Given the description of an element on the screen output the (x, y) to click on. 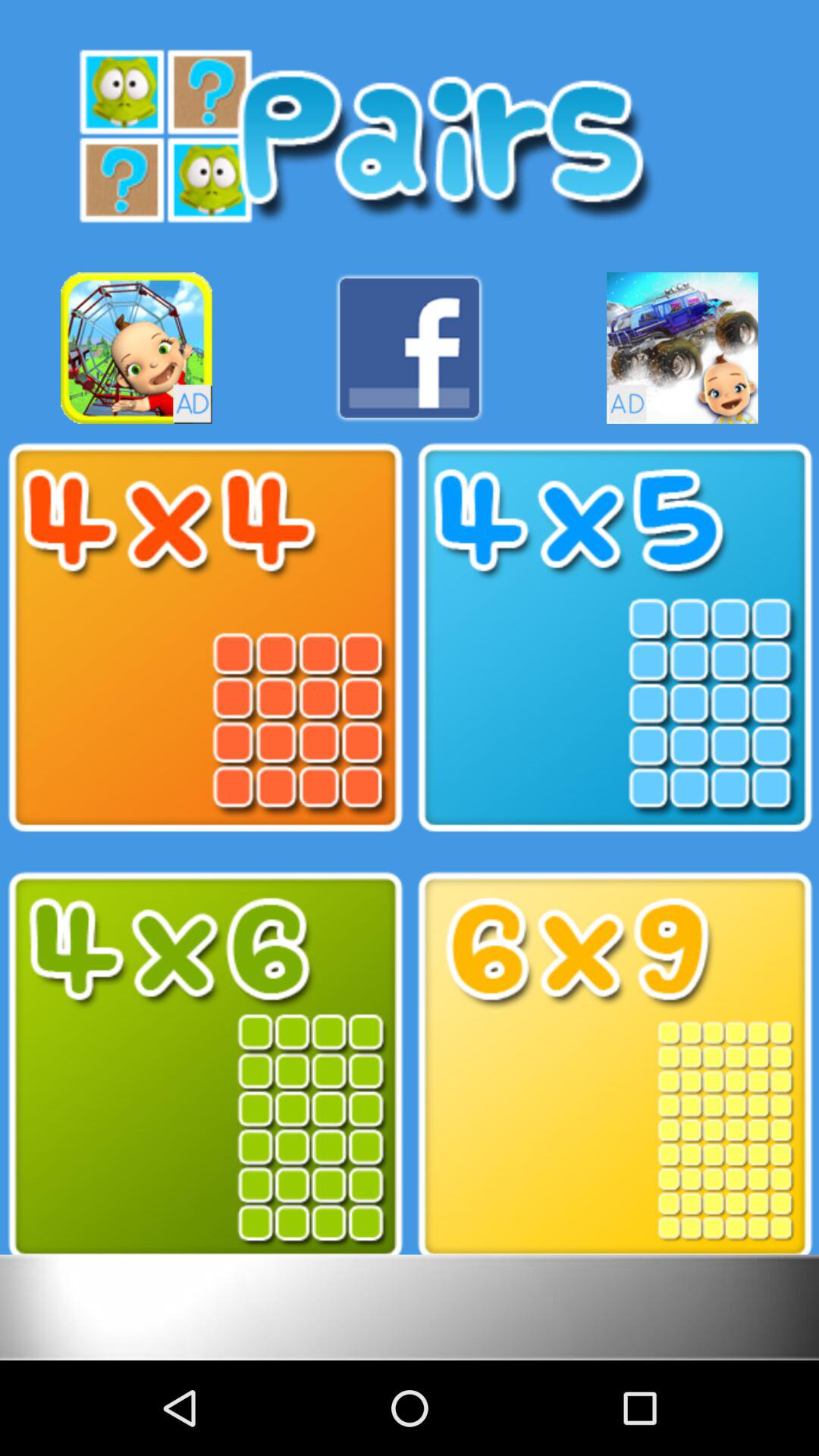
for calulation (614, 1066)
